Given the description of an element on the screen output the (x, y) to click on. 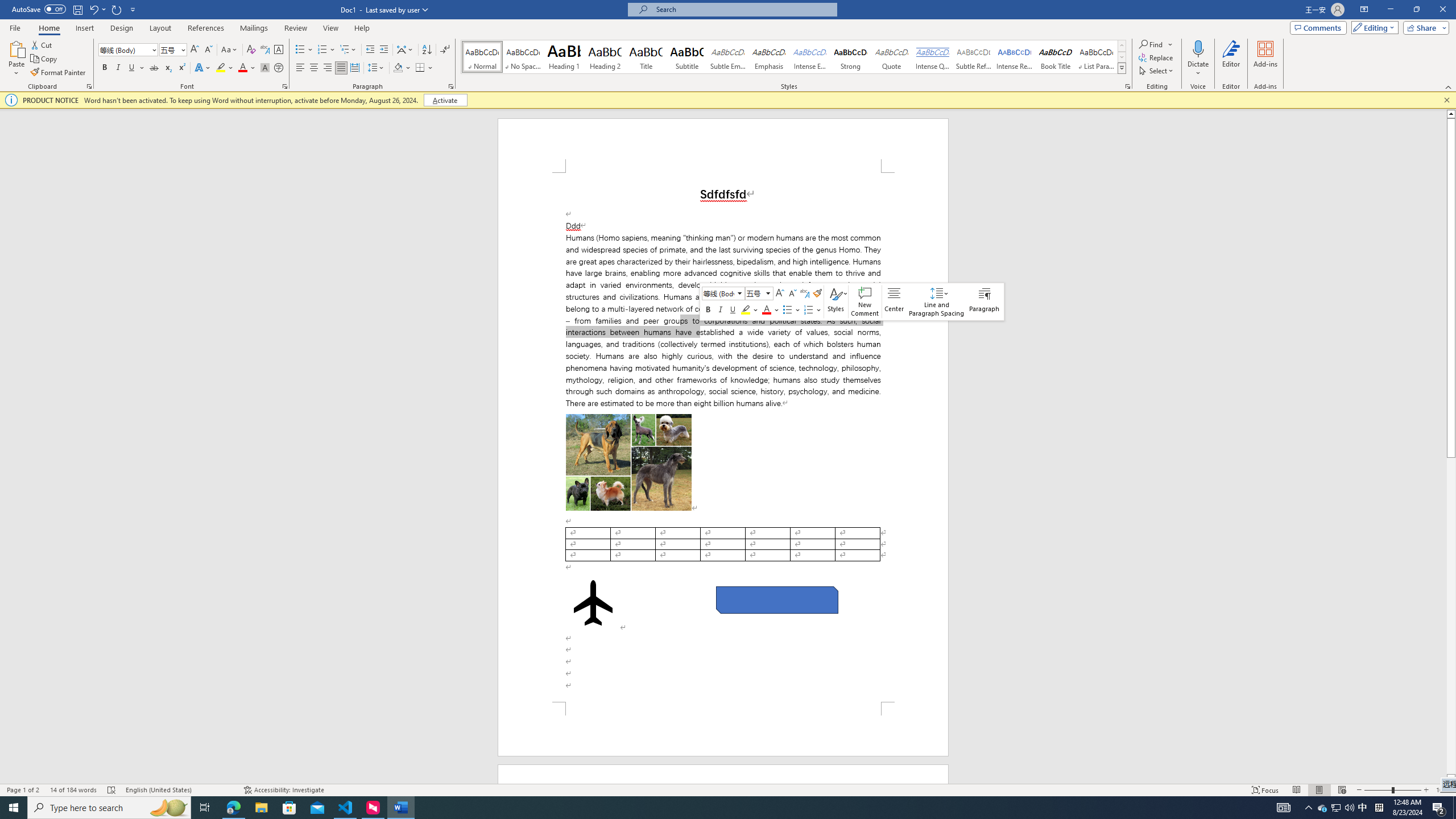
Subtitle (686, 56)
Line up (1450, 112)
Close this message (1446, 99)
Emphasis (768, 56)
Intense Emphasis (809, 56)
